Given the description of an element on the screen output the (x, y) to click on. 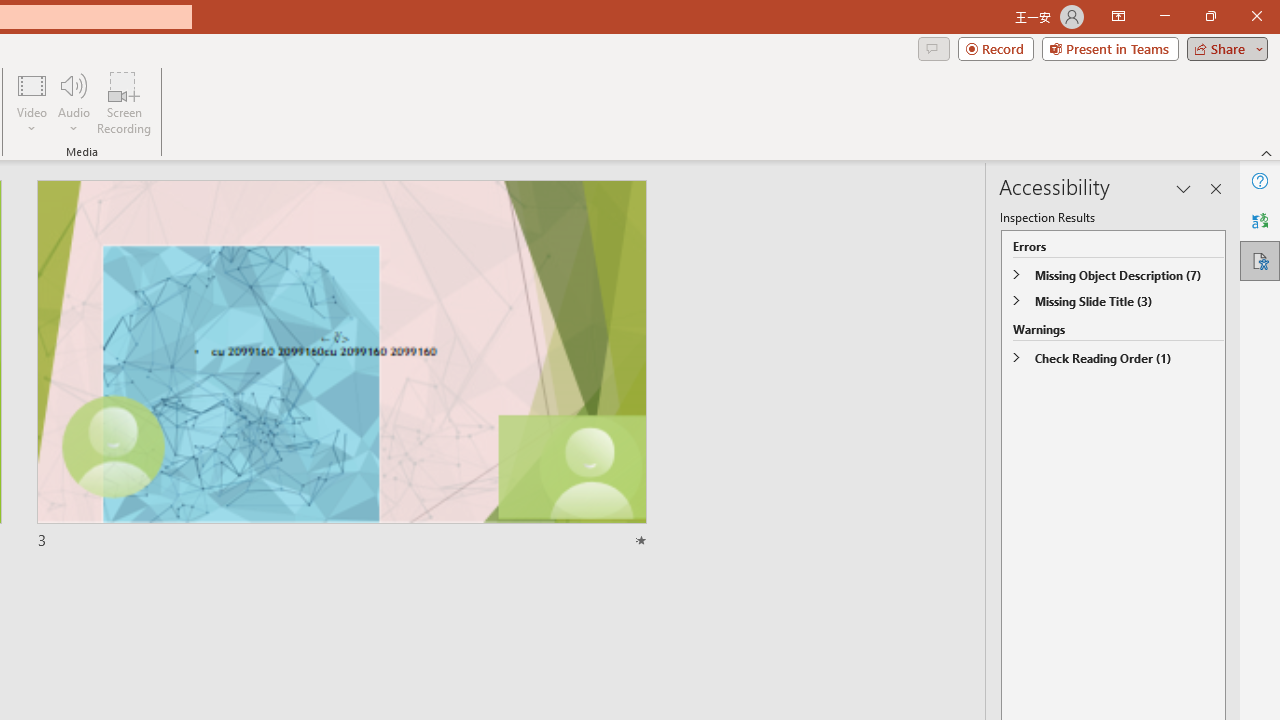
Video (31, 102)
Screen Recording... (123, 102)
